Given the description of an element on the screen output the (x, y) to click on. 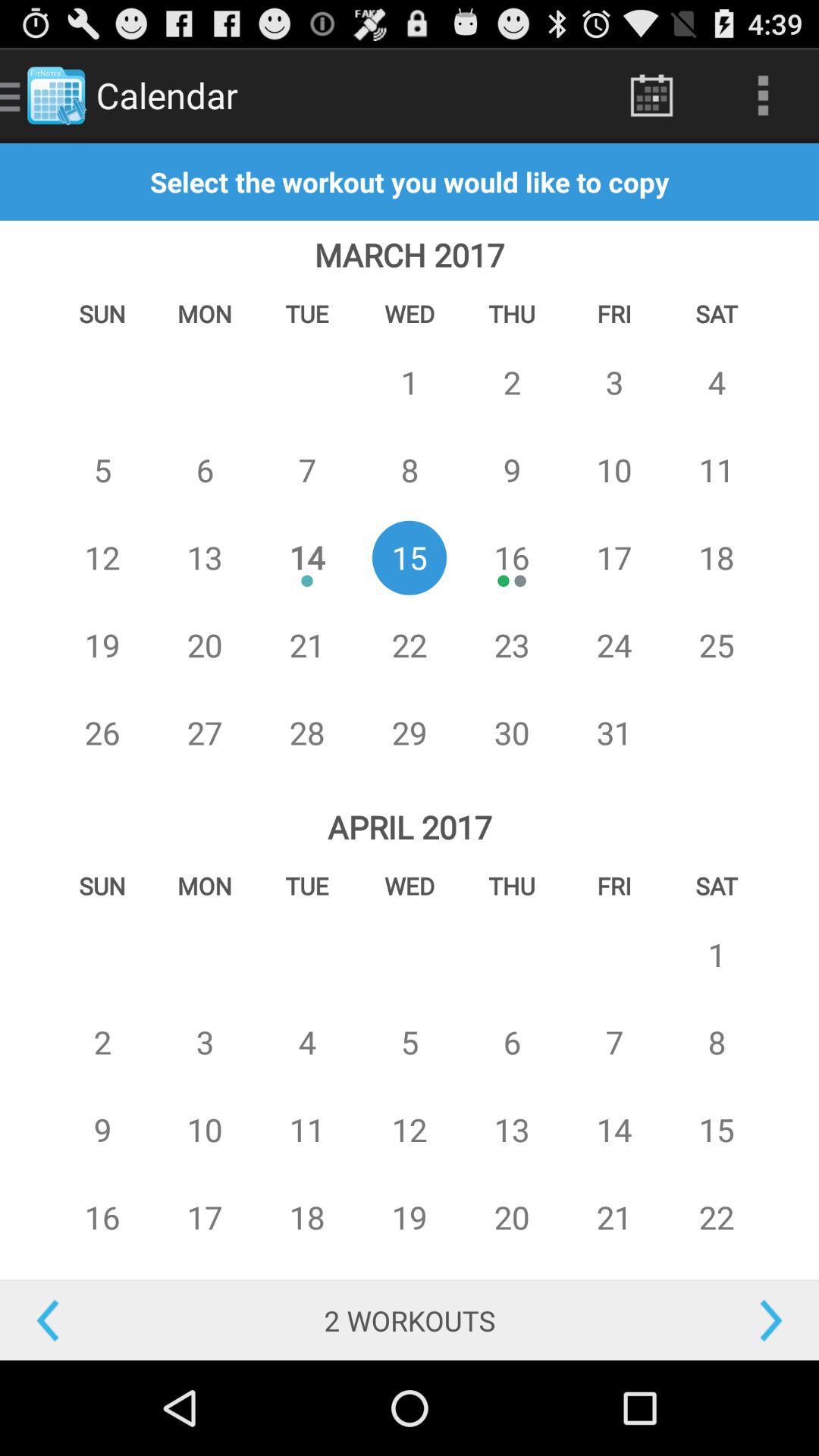
go forward (716, 1320)
